Given the description of an element on the screen output the (x, y) to click on. 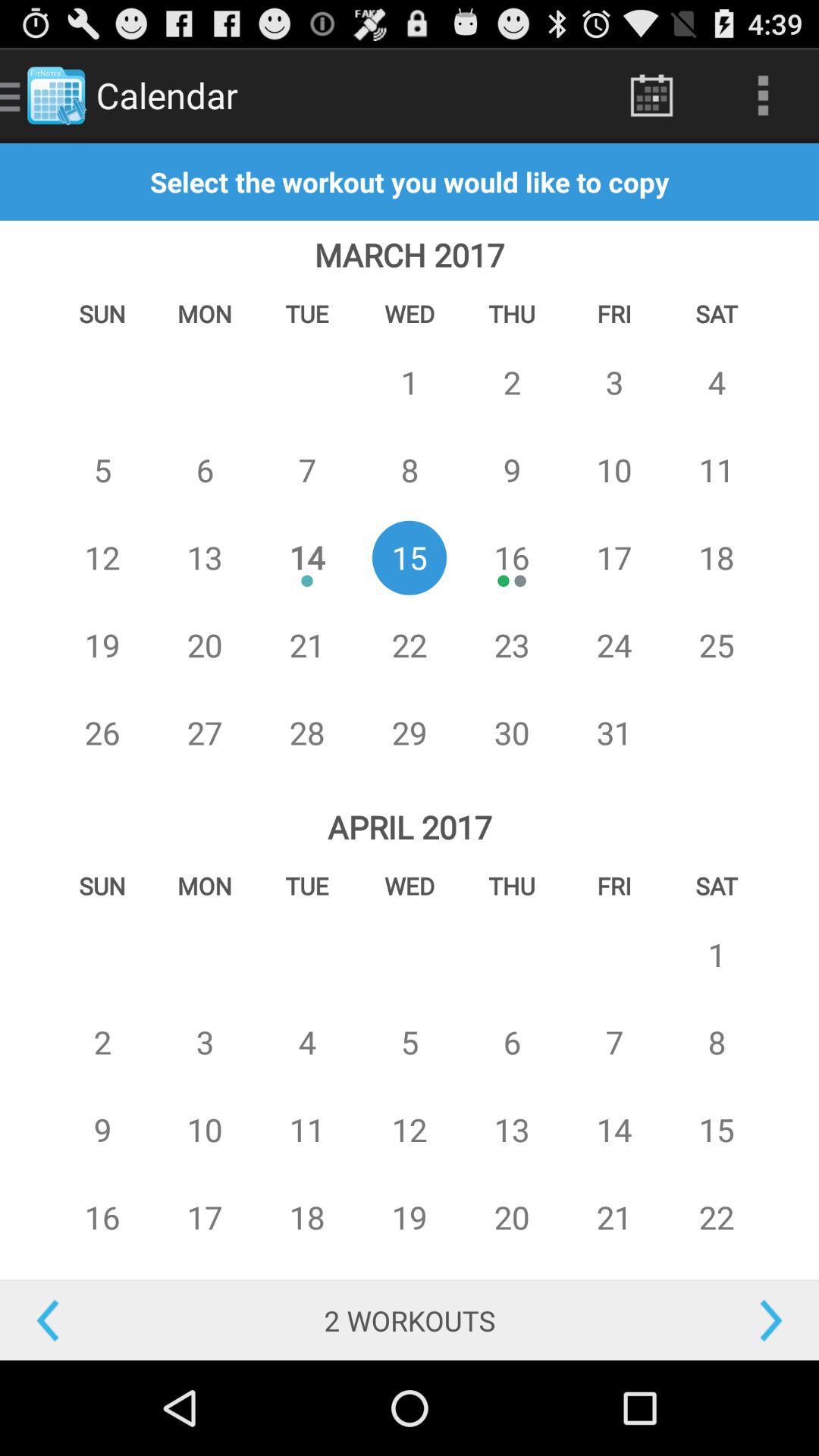
go forward (716, 1320)
